Given the description of an element on the screen output the (x, y) to click on. 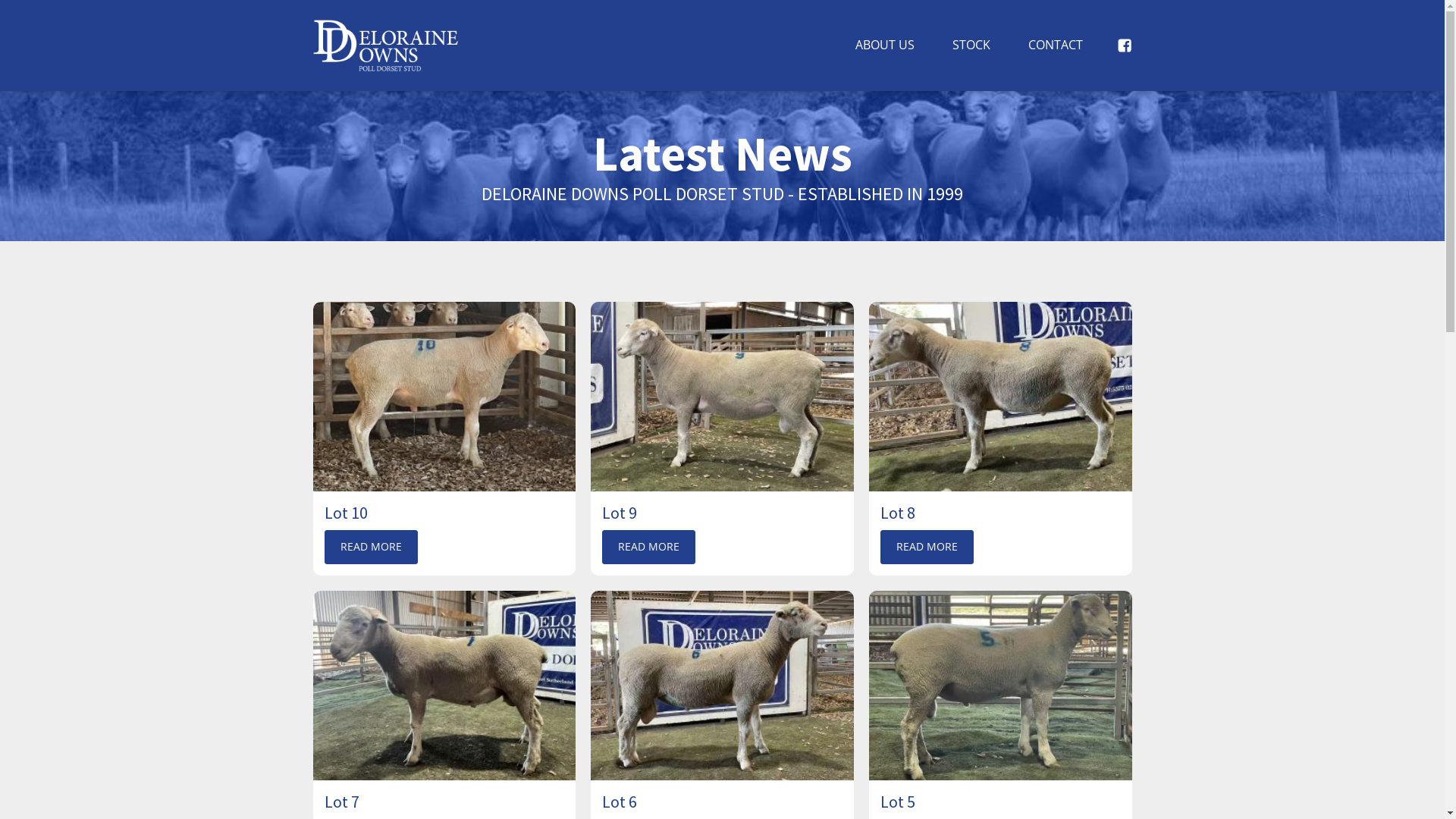
Lot 6 Element type: hover (721, 685)
Lot 9 Element type: hover (721, 396)
Lot 7 Element type: hover (443, 685)
ABOUT US Element type: text (883, 45)
Lot 10 Element type: hover (443, 396)
CONTACT Element type: text (1054, 45)
Lot 8 Element type: text (1000, 512)
STOCK Element type: text (970, 45)
Lot 5 Element type: hover (1000, 685)
Lot 7 Element type: text (444, 801)
Lot 9 Element type: text (722, 512)
READ MORE Element type: text (370, 546)
Lot 5 Element type: text (1000, 801)
READ MORE Element type: text (648, 546)
Lot 8 Element type: hover (1000, 396)
Lot 10 Element type: text (444, 512)
Lot 6 Element type: text (722, 801)
READ MORE Element type: text (926, 546)
